Given the description of an element on the screen output the (x, y) to click on. 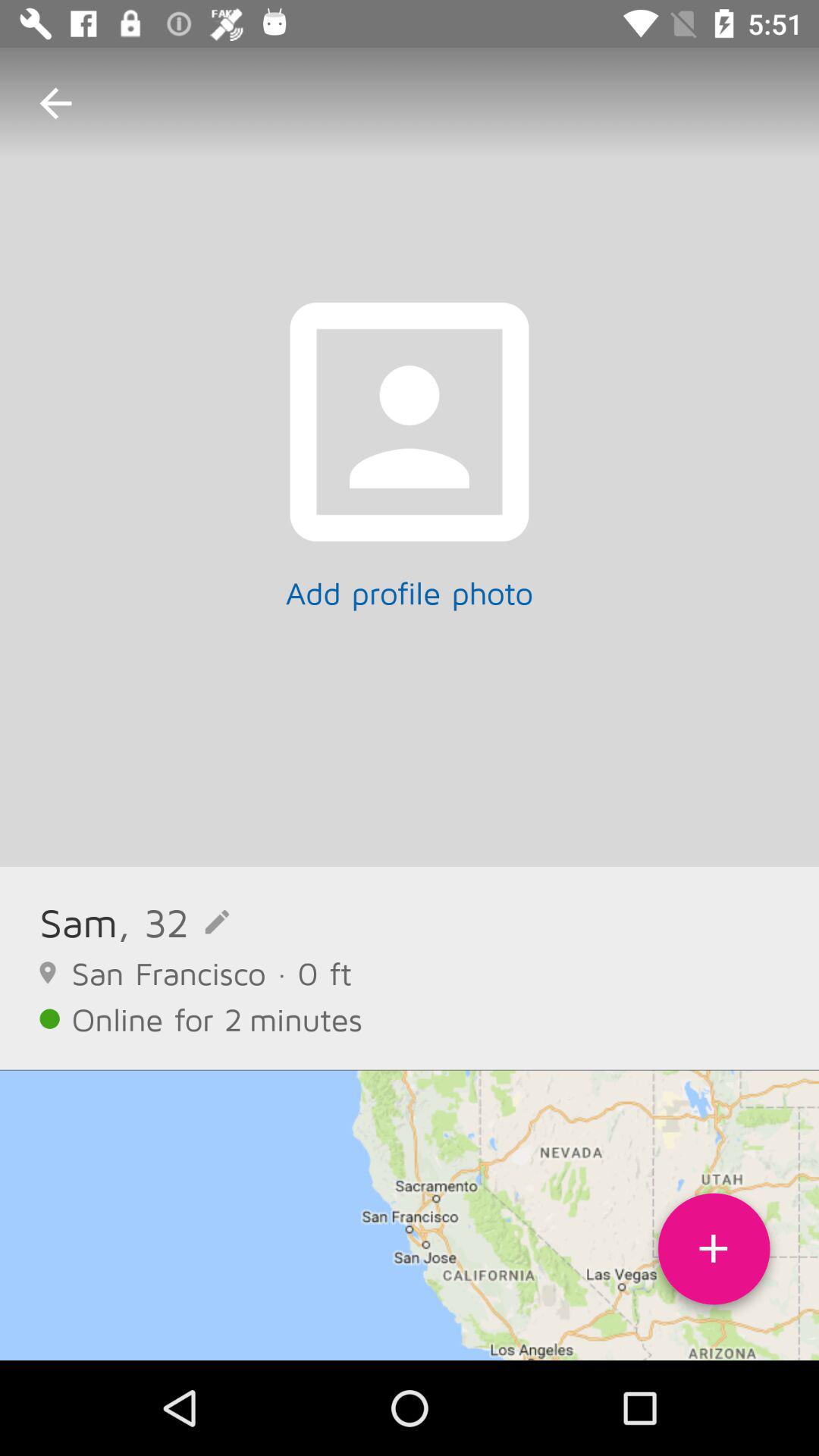
zoom in (713, 1254)
